Given the description of an element on the screen output the (x, y) to click on. 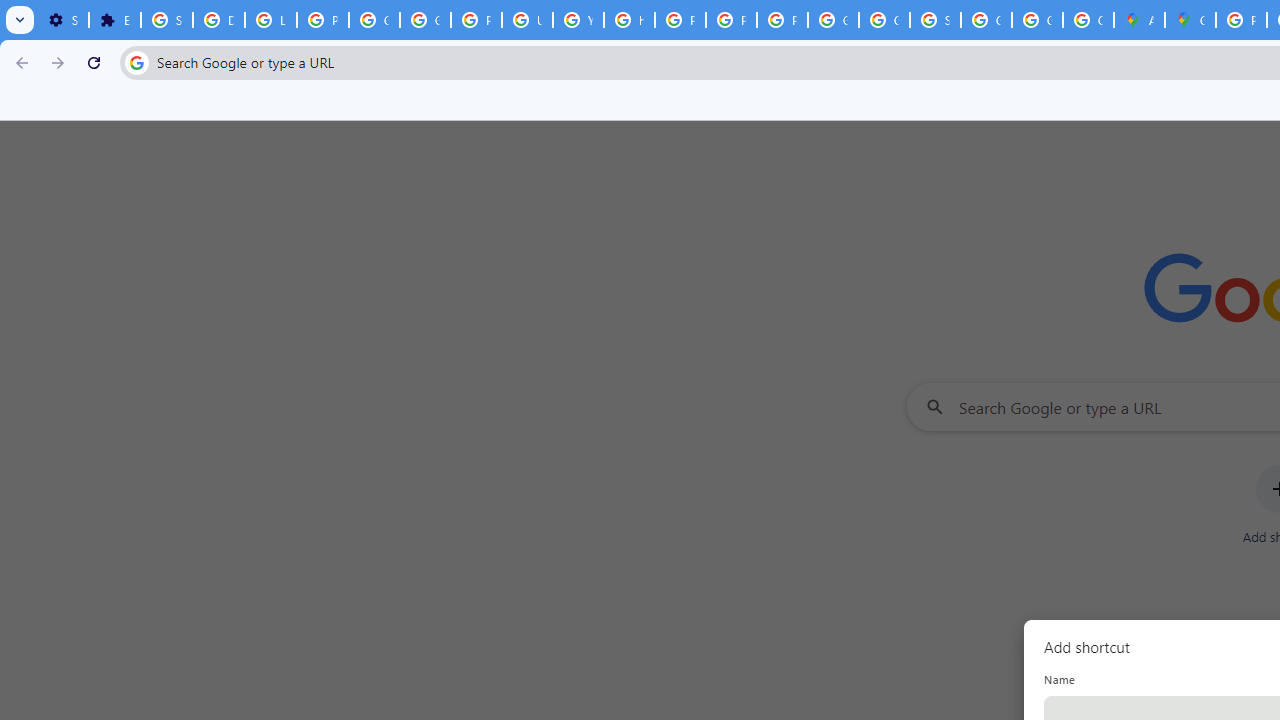
Settings - On startup (63, 20)
Privacy Help Center - Policies Help (680, 20)
Create your Google Account (1087, 20)
Sign in - Google Accounts (935, 20)
Sign in - Google Accounts (166, 20)
Delete photos & videos - Computer - Google Photos Help (218, 20)
Policy Accountability and Transparency - Transparency Center (1241, 20)
